Given the description of an element on the screen output the (x, y) to click on. 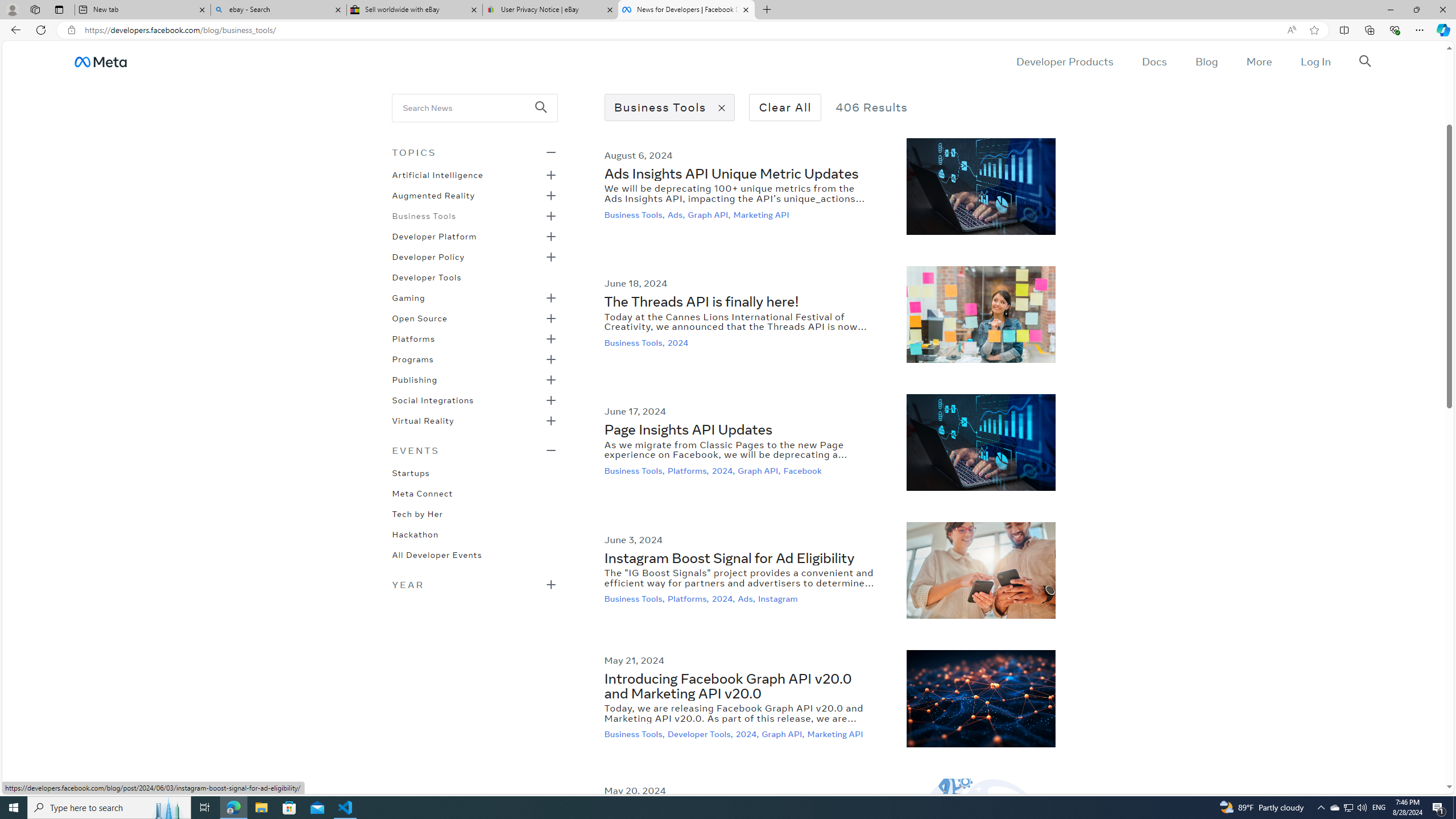
Business Tools (423, 214)
Blog (1205, 61)
News for Developers | Facebook Developers (685, 9)
Blog (1205, 61)
Hackathon (415, 533)
Refresh (40, 29)
Meta Connect (421, 492)
View site information (70, 29)
Log In (1315, 61)
Tab actions menu (58, 9)
Programs (412, 358)
Restore (1416, 9)
Copilot (Ctrl+Shift+.) (1442, 29)
